Given the description of an element on the screen output the (x, y) to click on. 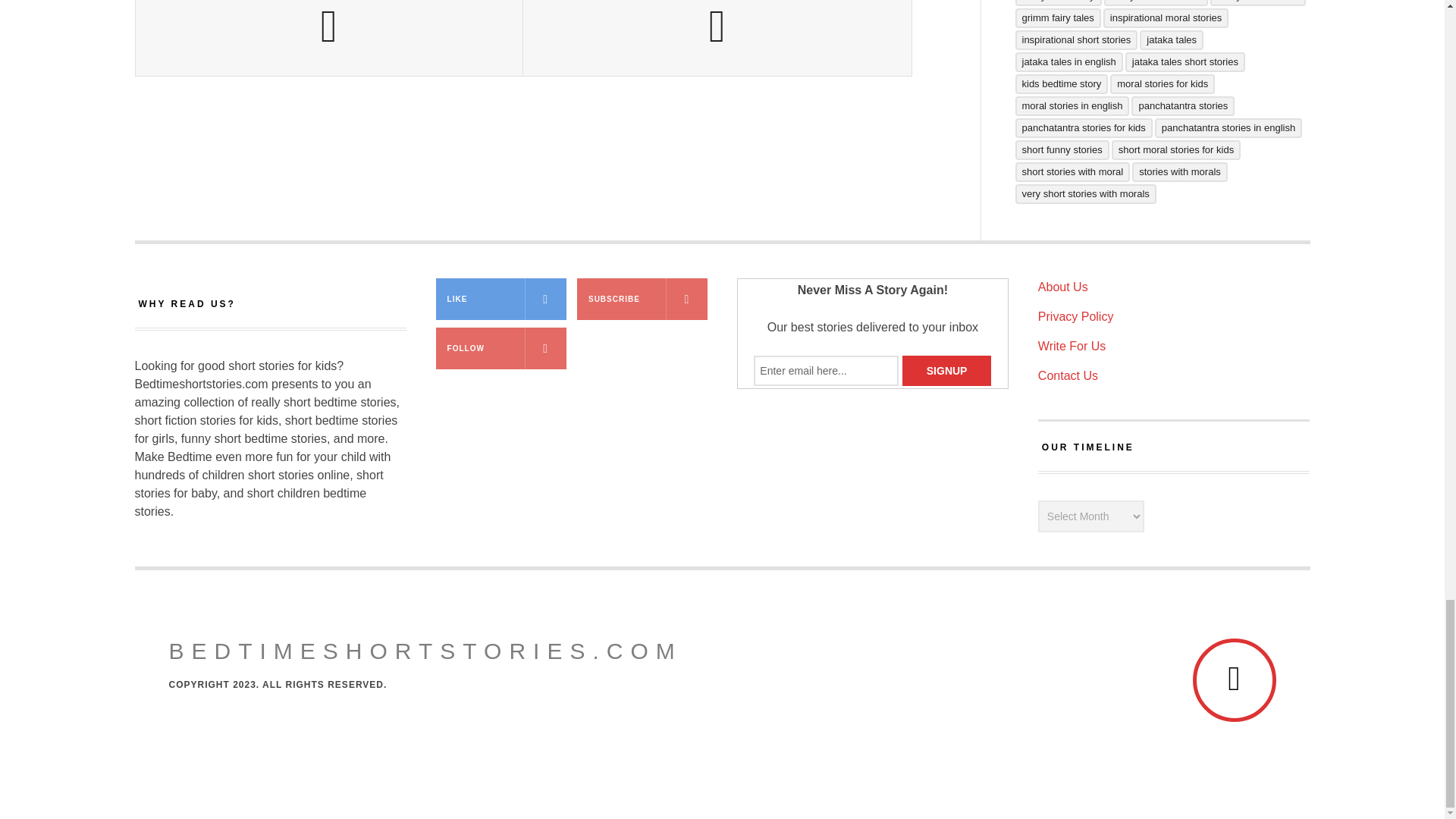
Signup (946, 370)
Previous Post (328, 38)
Next Post (716, 38)
Enter email here... (826, 370)
